Given the description of an element on the screen output the (x, y) to click on. 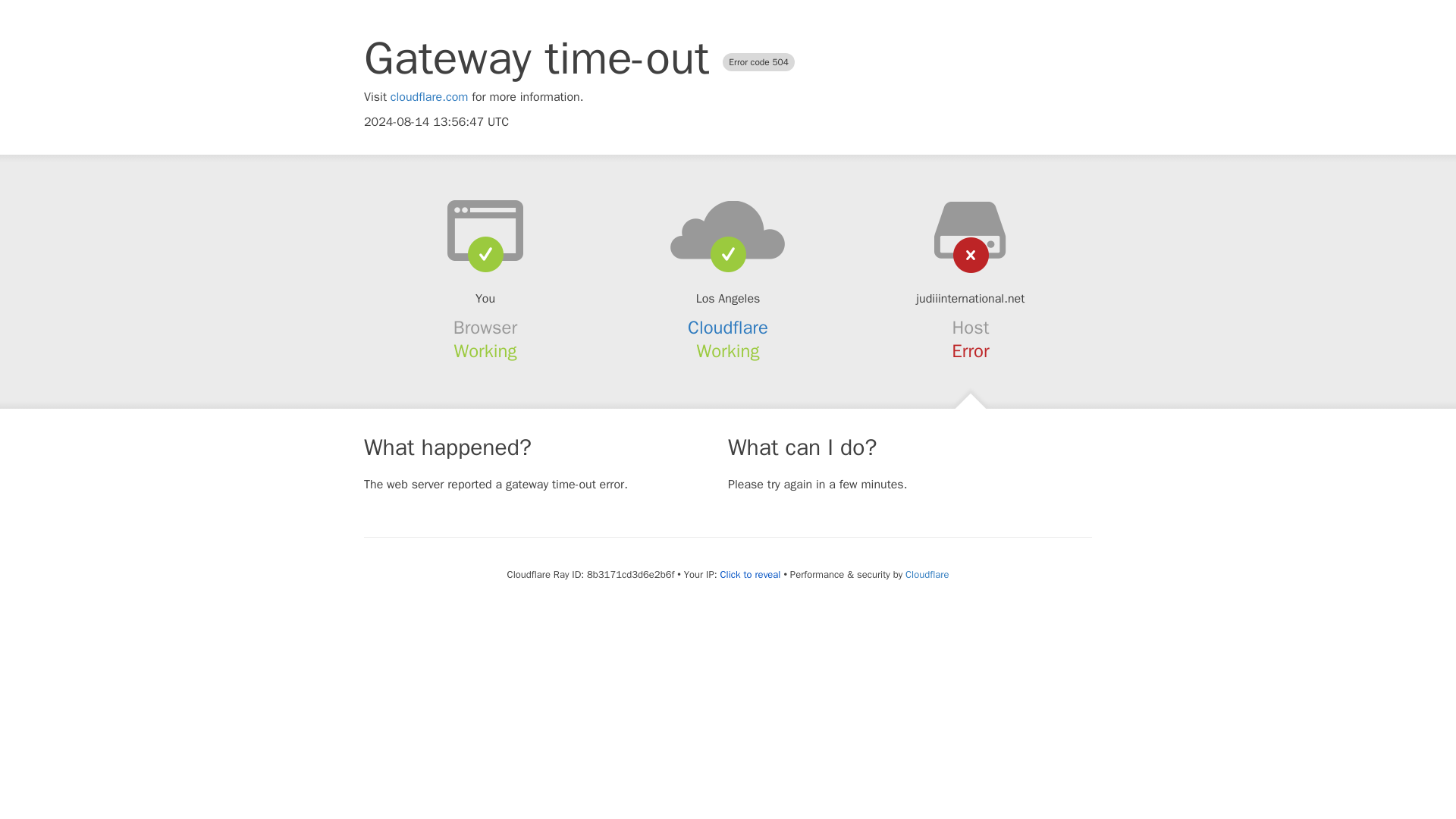
cloudflare.com (429, 96)
Click to reveal (750, 574)
Cloudflare (727, 327)
Cloudflare (927, 574)
